Given the description of an element on the screen output the (x, y) to click on. 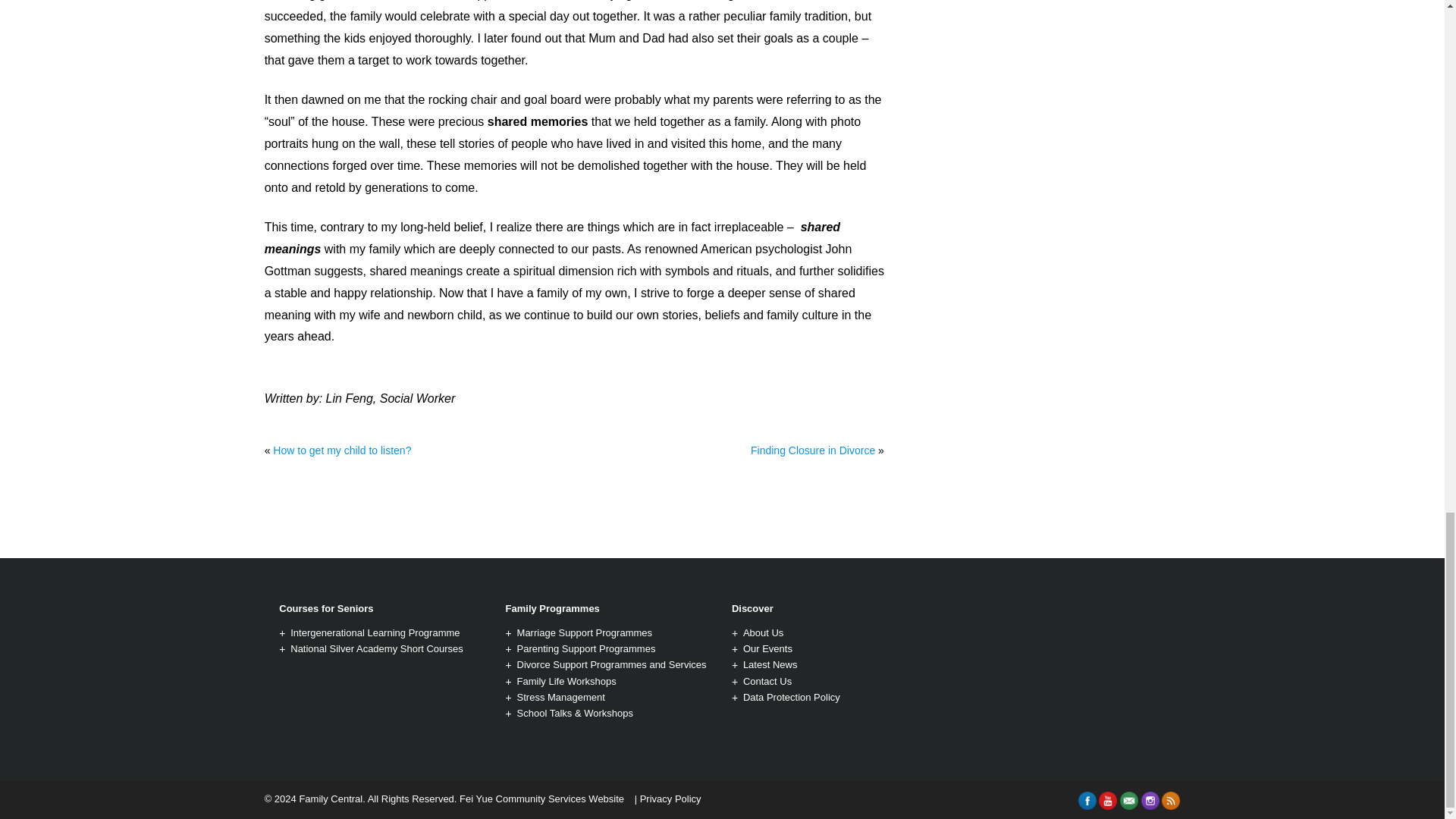
How to get my child to listen? (341, 450)
Stress Management (560, 696)
Finding Closure in Divorce (813, 450)
National Silver Academy Short Courses (376, 648)
Facebook (1087, 800)
RSS (1170, 800)
Intergenerational Learning Programme (374, 632)
Email (1128, 800)
Parenting Support Programmes (586, 648)
Marriage Support Programmes (584, 632)
Divorce Support Programmes and Services (611, 664)
Instagram (1149, 800)
Family Life Workshops (565, 681)
You Tube (1107, 800)
